Given the description of an element on the screen output the (x, y) to click on. 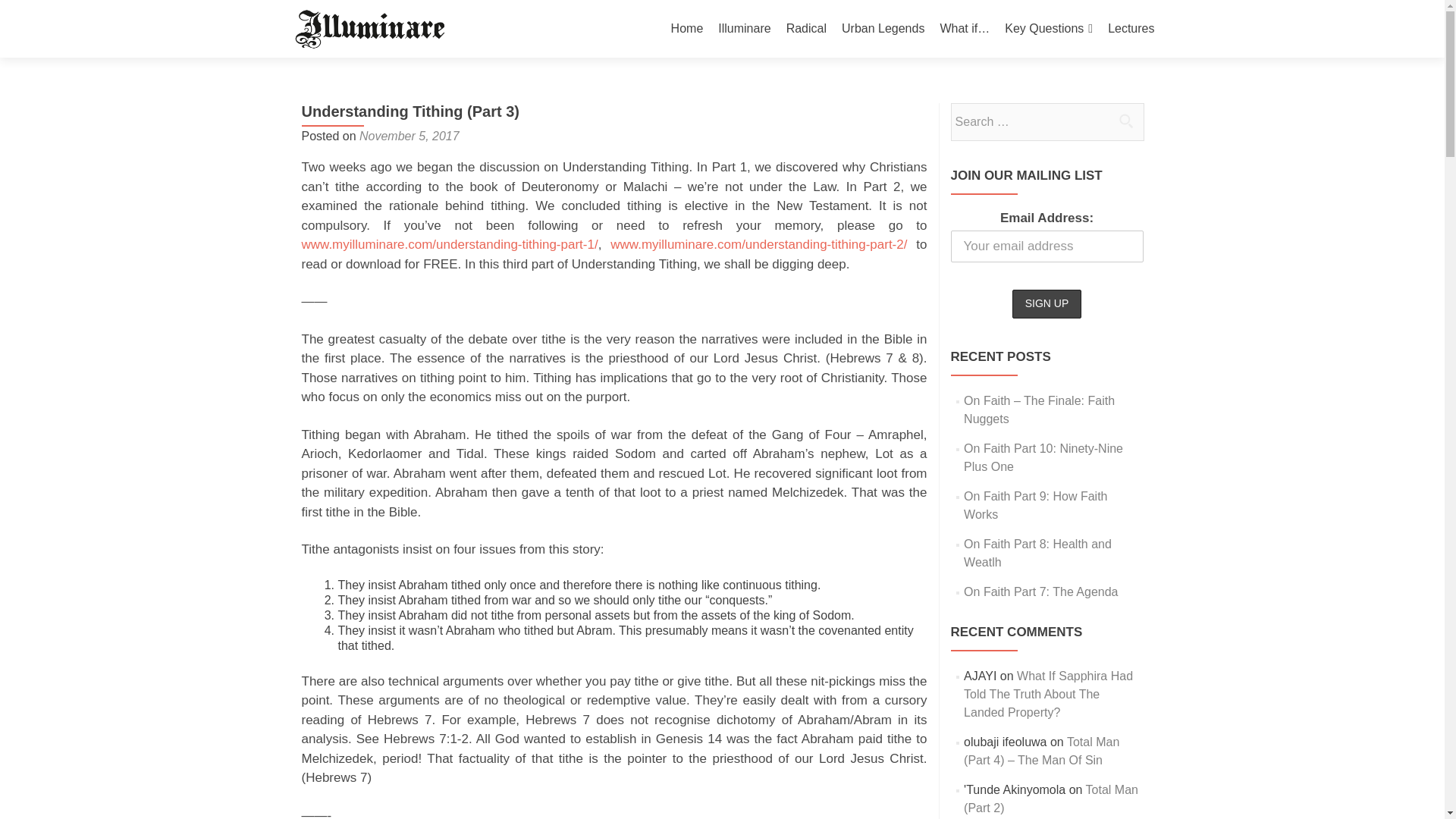
Key Questions (1048, 28)
Home (687, 28)
Search (1125, 120)
Lectures (1131, 28)
Sign up (1046, 303)
Search (1125, 120)
November 5, 2017 (409, 135)
Urban Legends (882, 28)
Illuminare (743, 28)
Radical (806, 28)
